Given the description of an element on the screen output the (x, y) to click on. 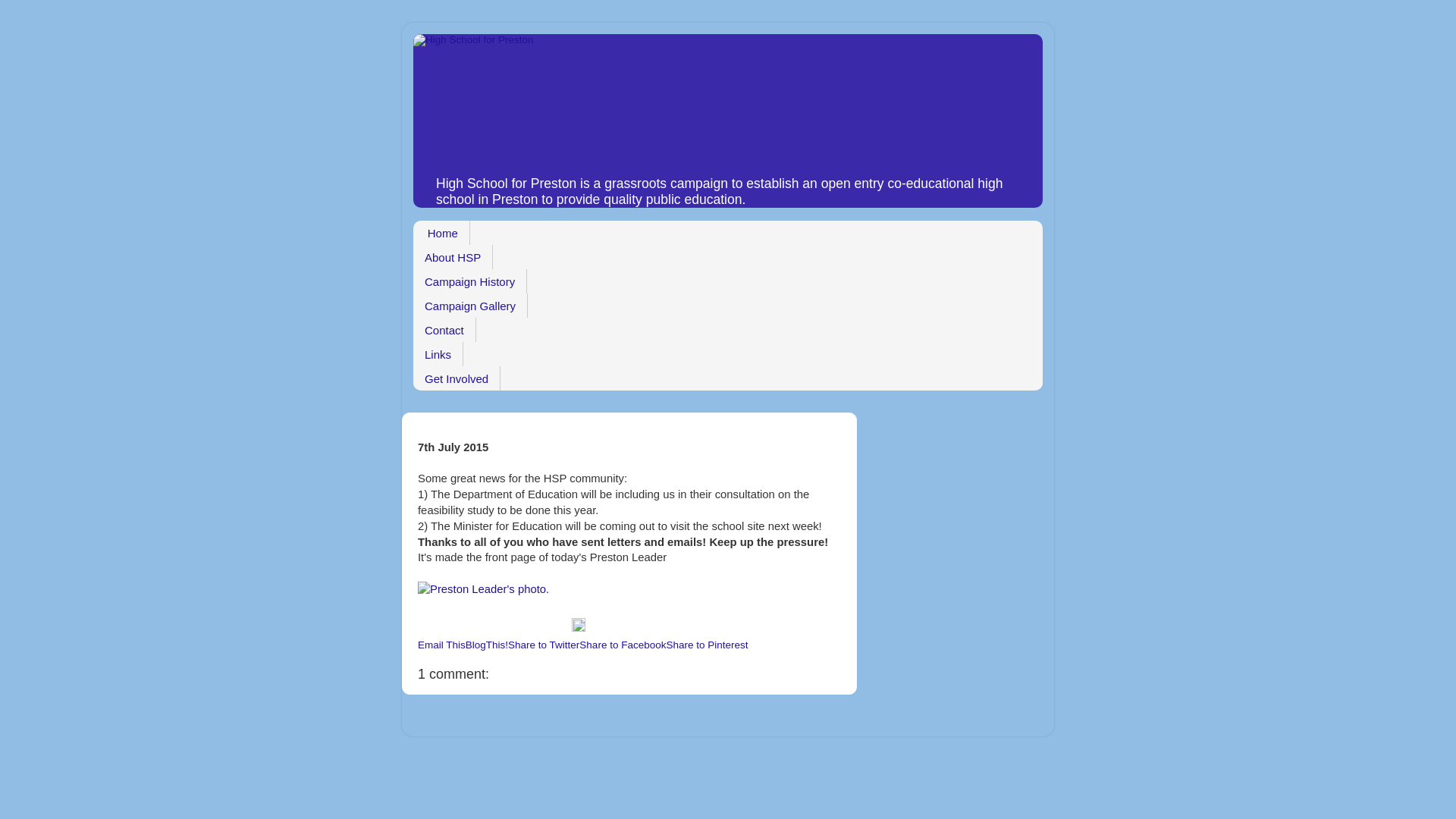
Campaign History (470, 281)
About HSP (453, 256)
Share to Pinterest (706, 644)
Share to Pinterest (706, 644)
Home (441, 232)
Get Involved (456, 378)
Share to Facebook (622, 644)
Email This (441, 644)
BlogThis! (486, 644)
Share to Twitter (543, 644)
